Given the description of an element on the screen output the (x, y) to click on. 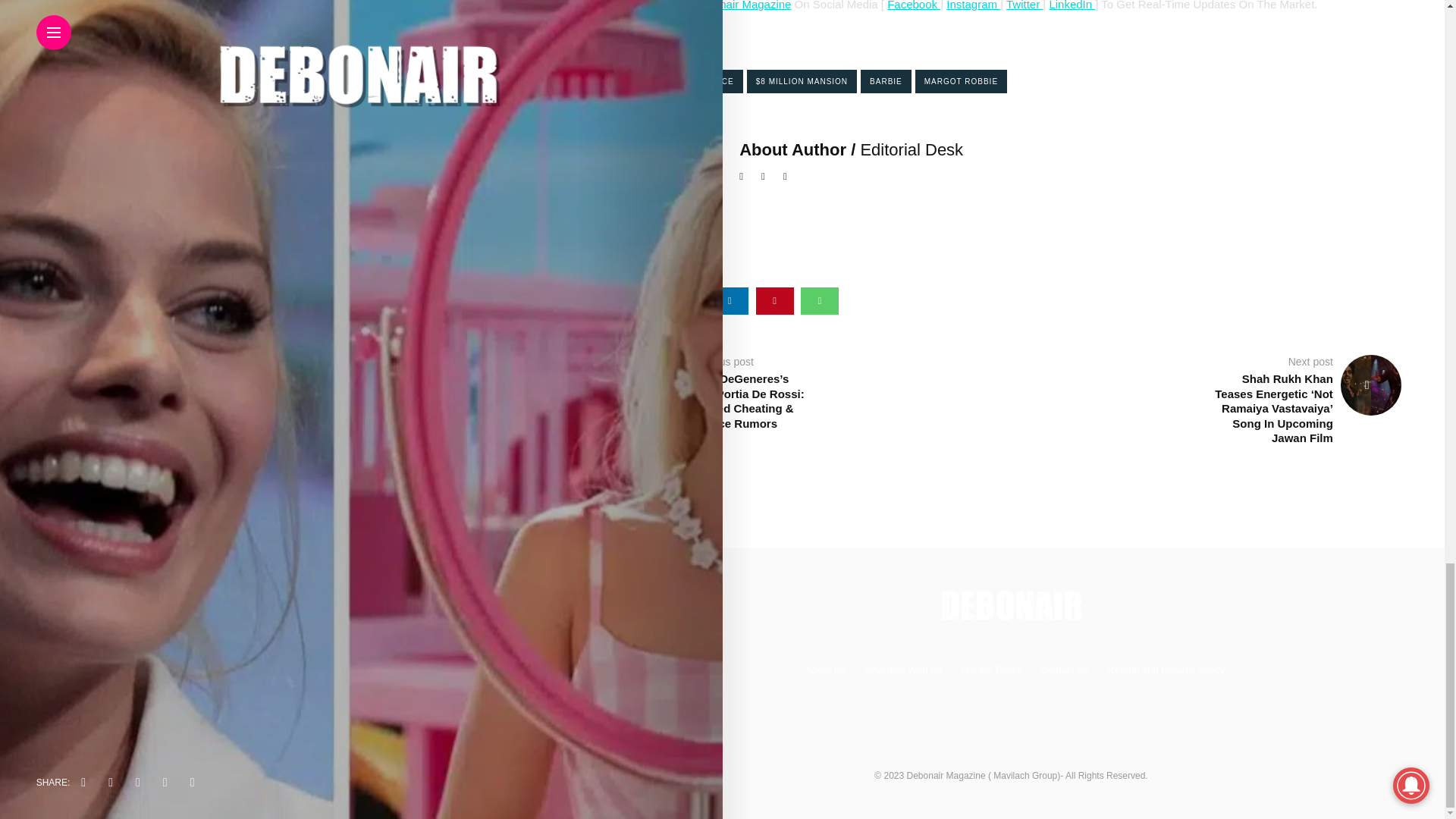
Facebook  (913, 5)
Debonair Magazine (741, 5)
Twitter (1022, 5)
Instagram  (973, 5)
LinkedIn (1070, 5)
